Given the description of an element on the screen output the (x, y) to click on. 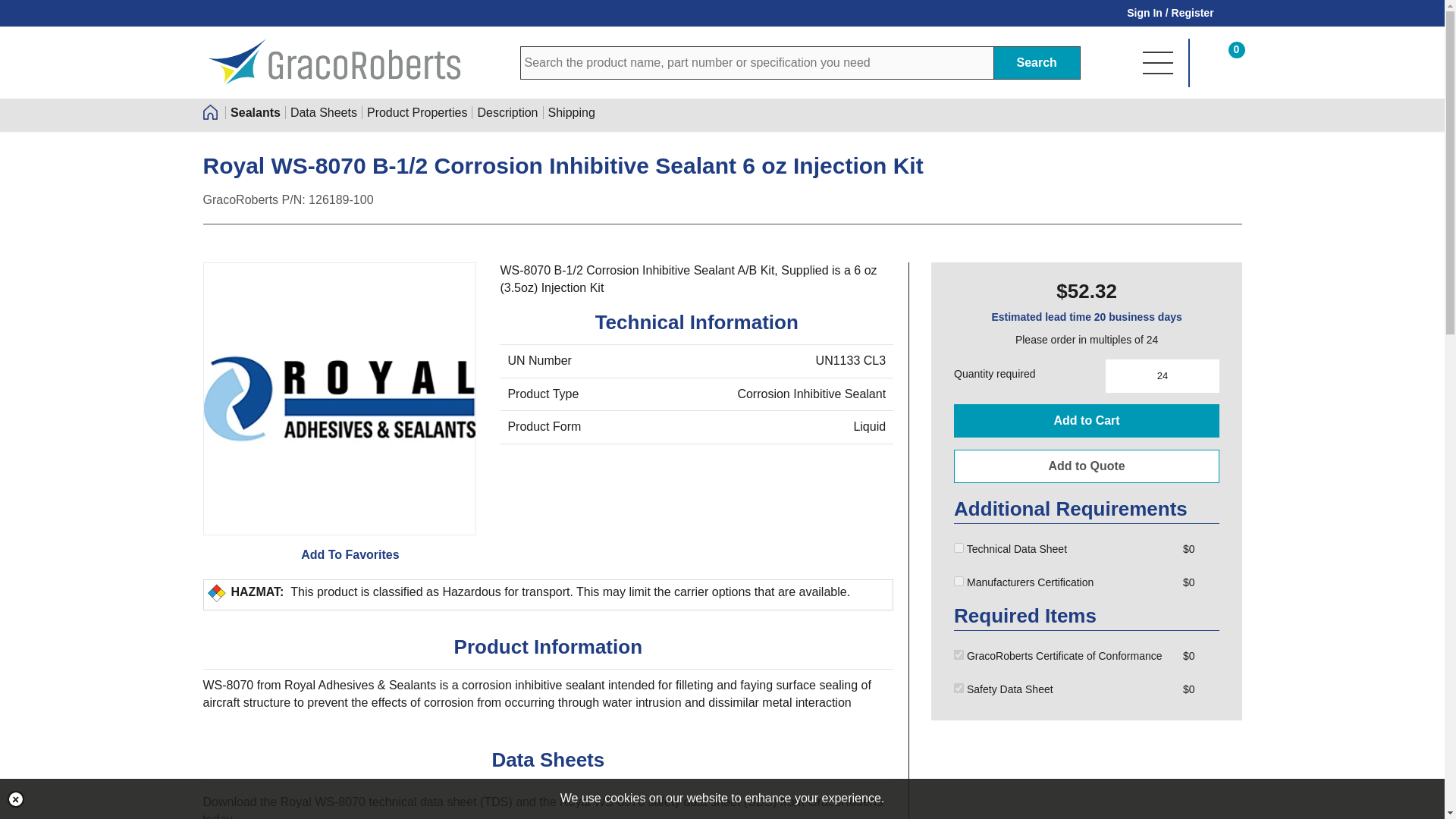
Add to Quote (1086, 466)
1 (958, 655)
1 (958, 687)
1 (958, 581)
1 (958, 547)
24 (1162, 376)
